Given the description of an element on the screen output the (x, y) to click on. 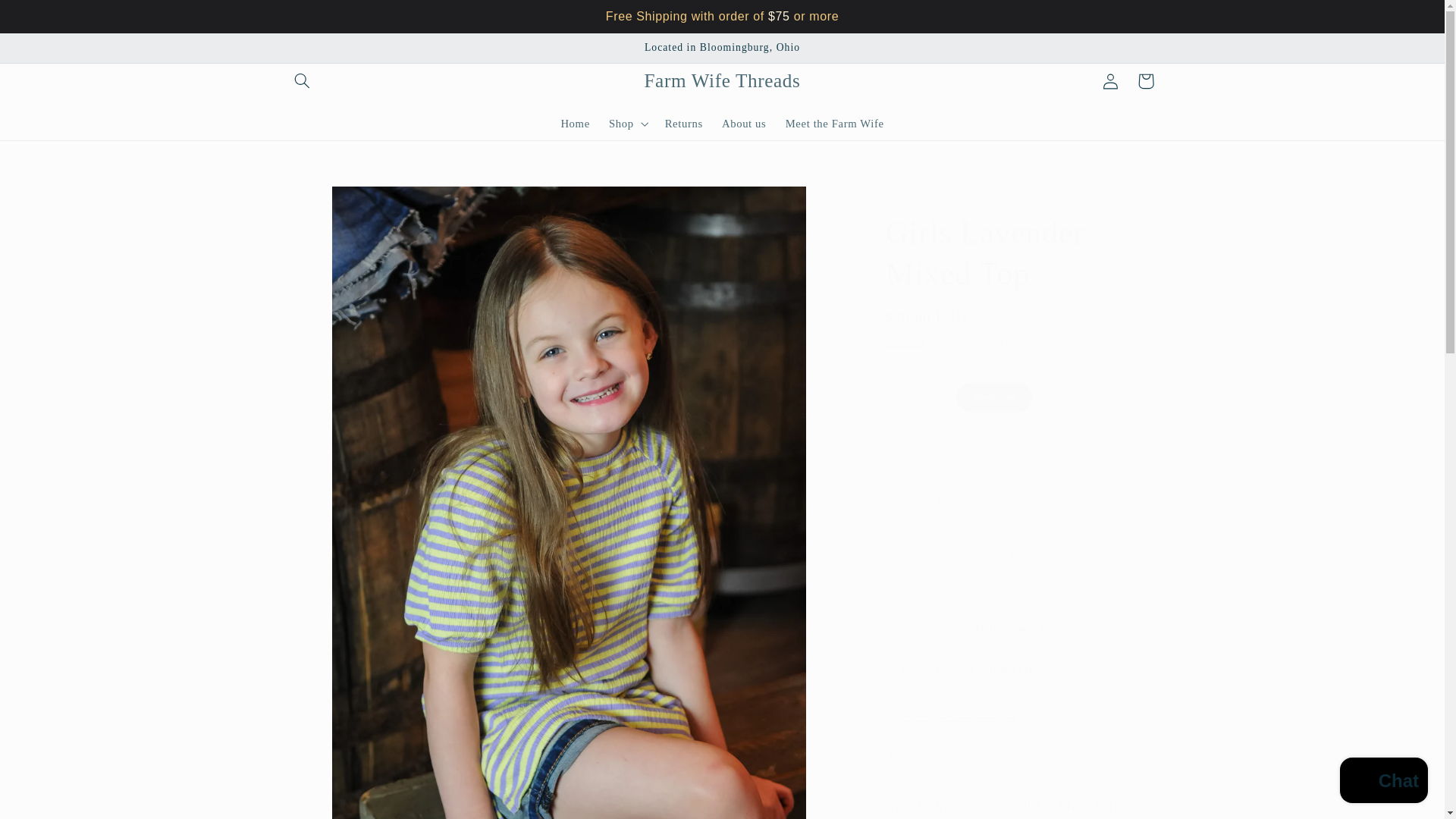
Home (575, 123)
Skip to content (48, 18)
Farm Wife Threads (722, 80)
1 (939, 498)
Shopify online store chat (1383, 781)
